Given the description of an element on the screen output the (x, y) to click on. 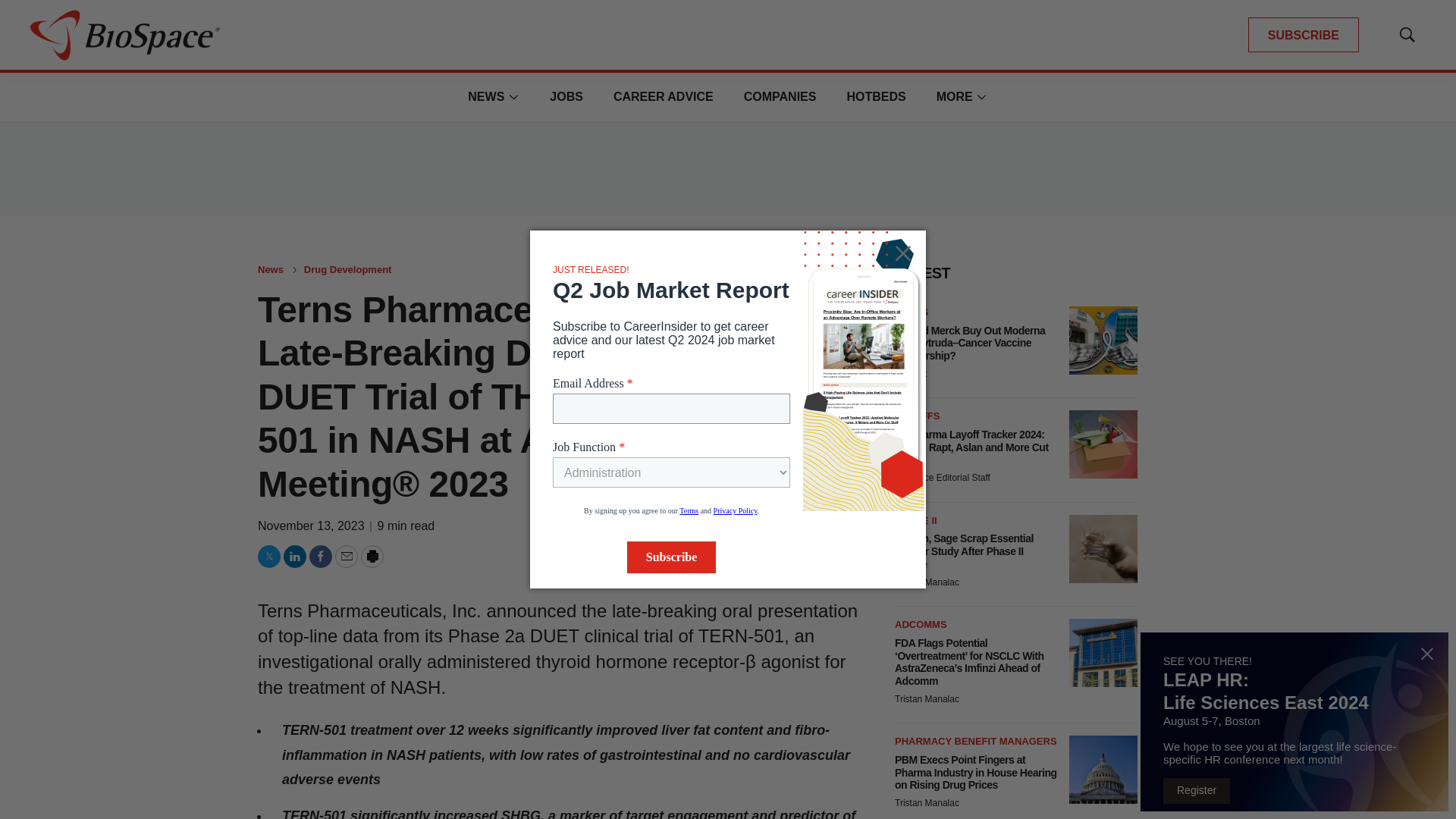
Show Search (1407, 34)
3rd party ad content (727, 168)
Popup CTA (1294, 721)
NEWS (485, 96)
SUBSCRIBE (1302, 34)
